Given the description of an element on the screen output the (x, y) to click on. 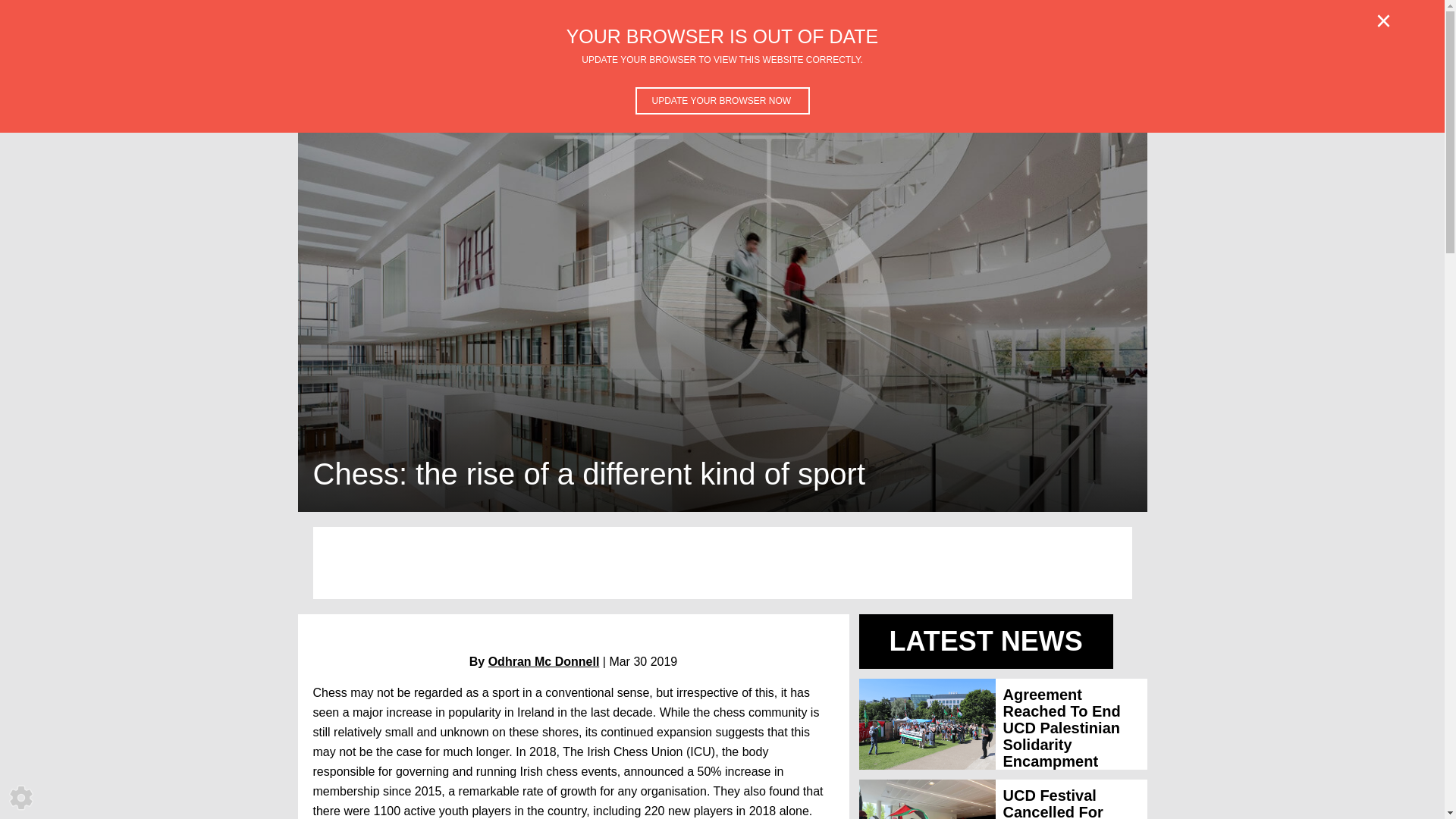
Science (501, 73)
Advertisement (722, 562)
Columns (926, 73)
Gaeilge (725, 73)
Advertisement (1018, 73)
Sport (667, 73)
The Harpy (848, 73)
Features (366, 73)
